Given the description of an element on the screen output the (x, y) to click on. 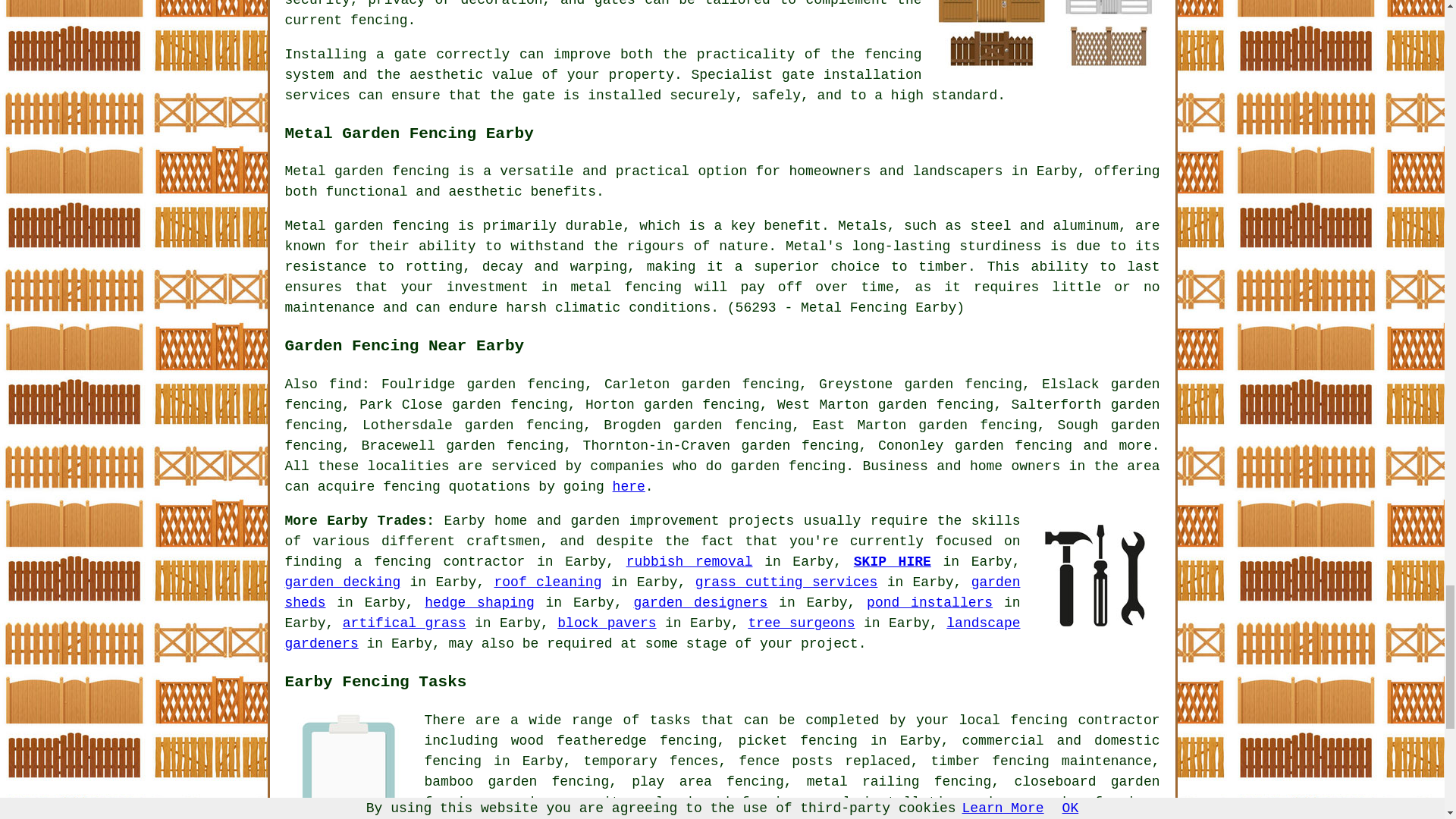
More Earby Tradesmen (1095, 575)
gate installation services (603, 85)
fencing (817, 466)
Garden Gate Installation Earby (1046, 38)
fencing (411, 486)
